Given the description of an element on the screen output the (x, y) to click on. 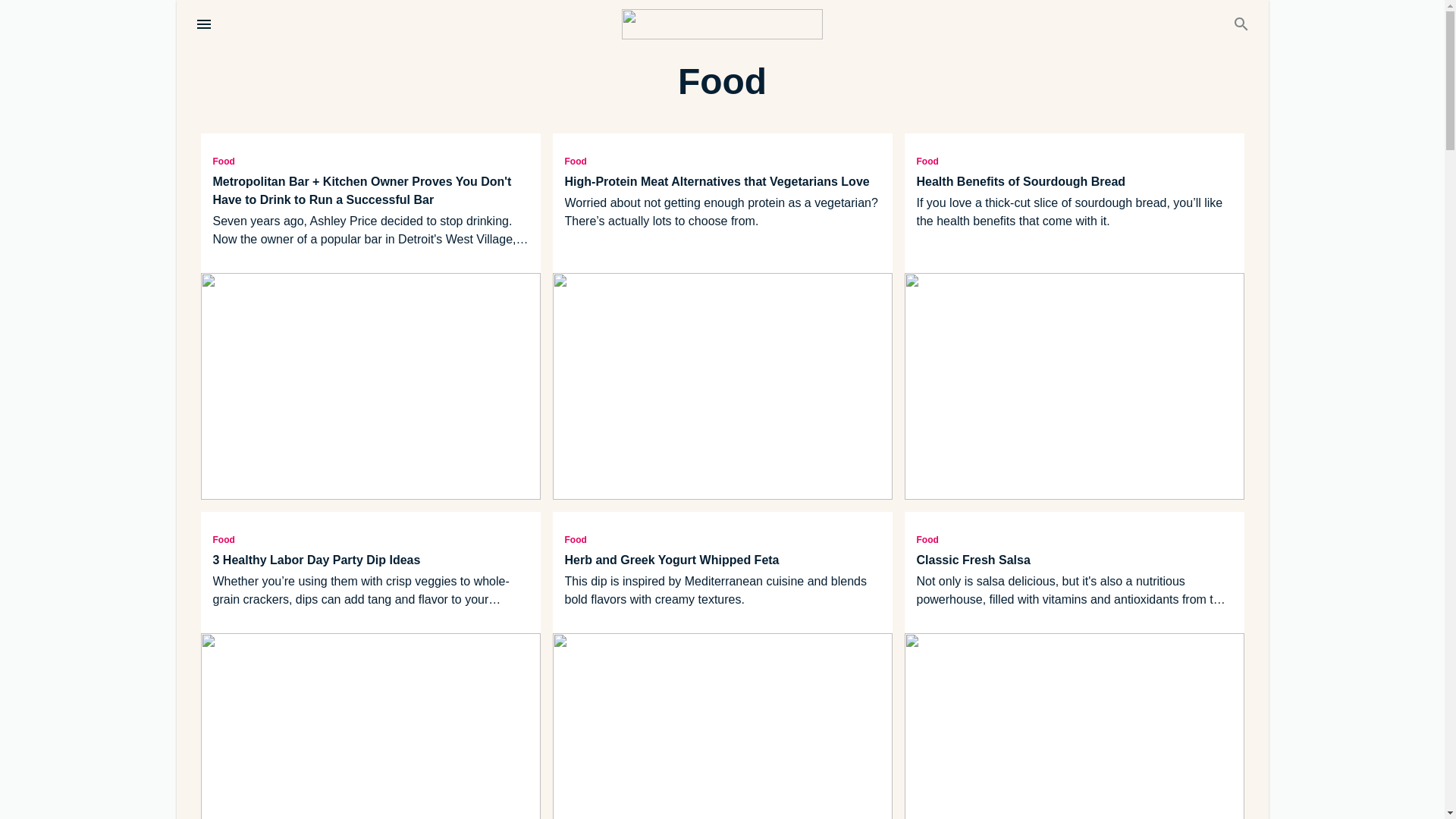
High-Protein Meat Alternatives that Vegetarians Love (721, 181)
Herb and Greek Yogurt Whipped Feta (721, 560)
Food (1073, 538)
3 Healthy Labor Day Party Dip Ideas (369, 560)
Health Benefits of Sourdough Bread (1073, 181)
Classic Fresh Salsa (1073, 560)
Food (369, 538)
Food (721, 160)
Food (369, 160)
Food (1073, 160)
Food (721, 538)
